Given the description of an element on the screen output the (x, y) to click on. 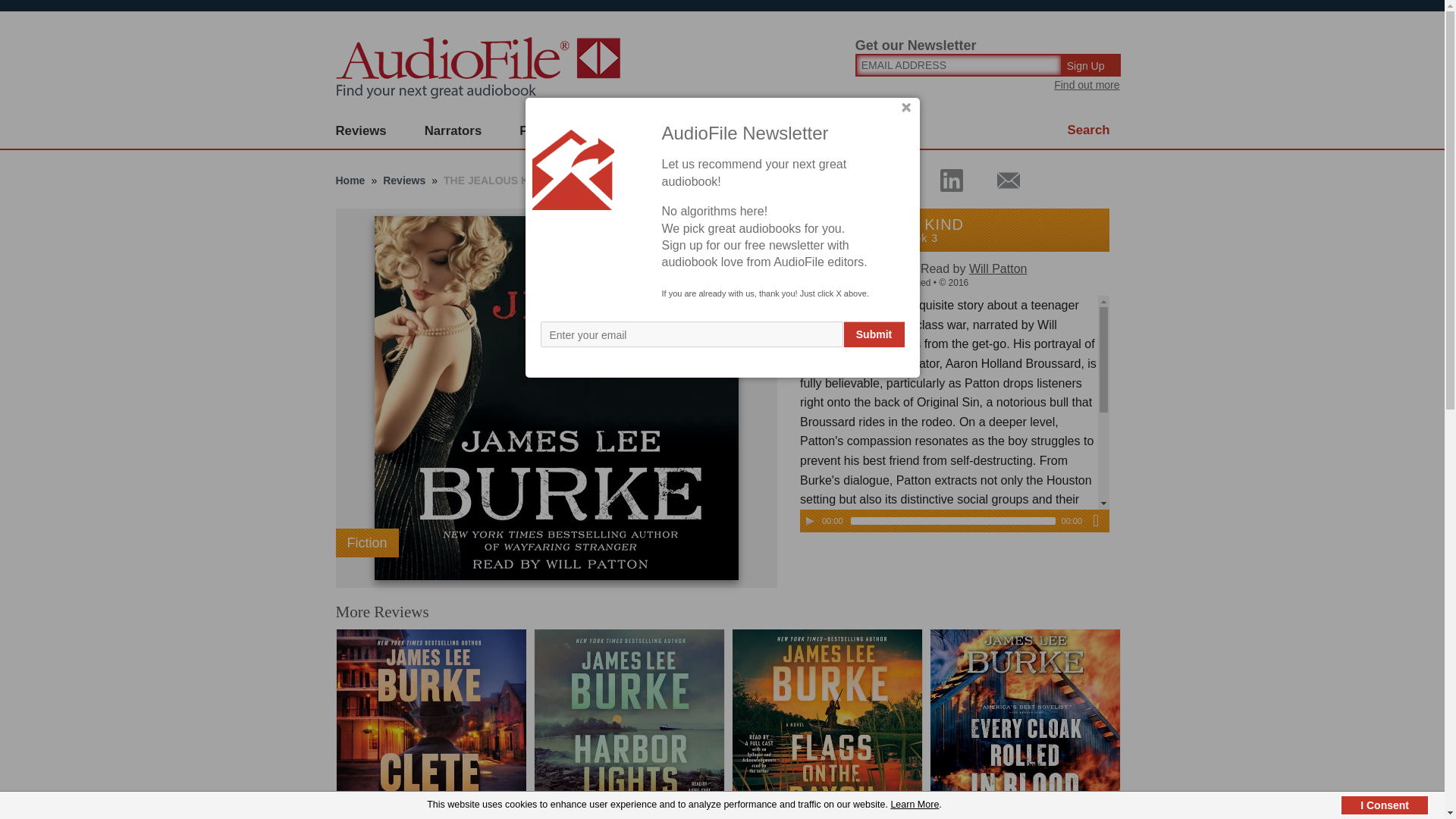
Narrators (453, 131)
Subscribe (640, 131)
About (727, 131)
Sign Up (1091, 65)
Articles (808, 131)
Find out more (1086, 84)
Reviews (360, 131)
Submit (873, 334)
Search (1089, 130)
Mute Toggle (1095, 520)
Features (545, 131)
AudioFileMagazine - Share by Email (999, 180)
